Given the description of an element on the screen output the (x, y) to click on. 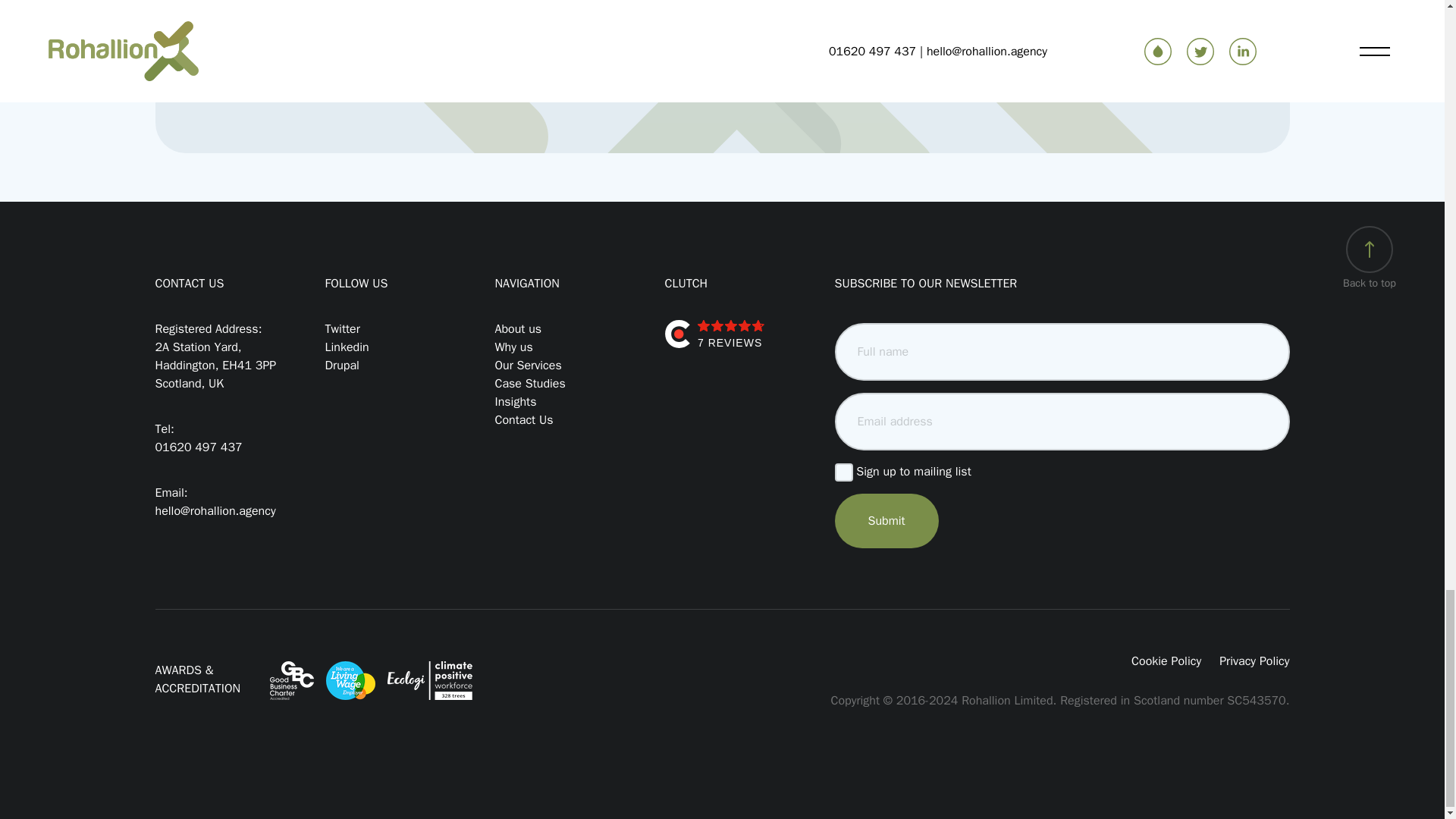
1 (842, 472)
Submit (885, 520)
Rohallion Clutch Review Widget 1 Dark (748, 335)
